Given the description of an element on the screen output the (x, y) to click on. 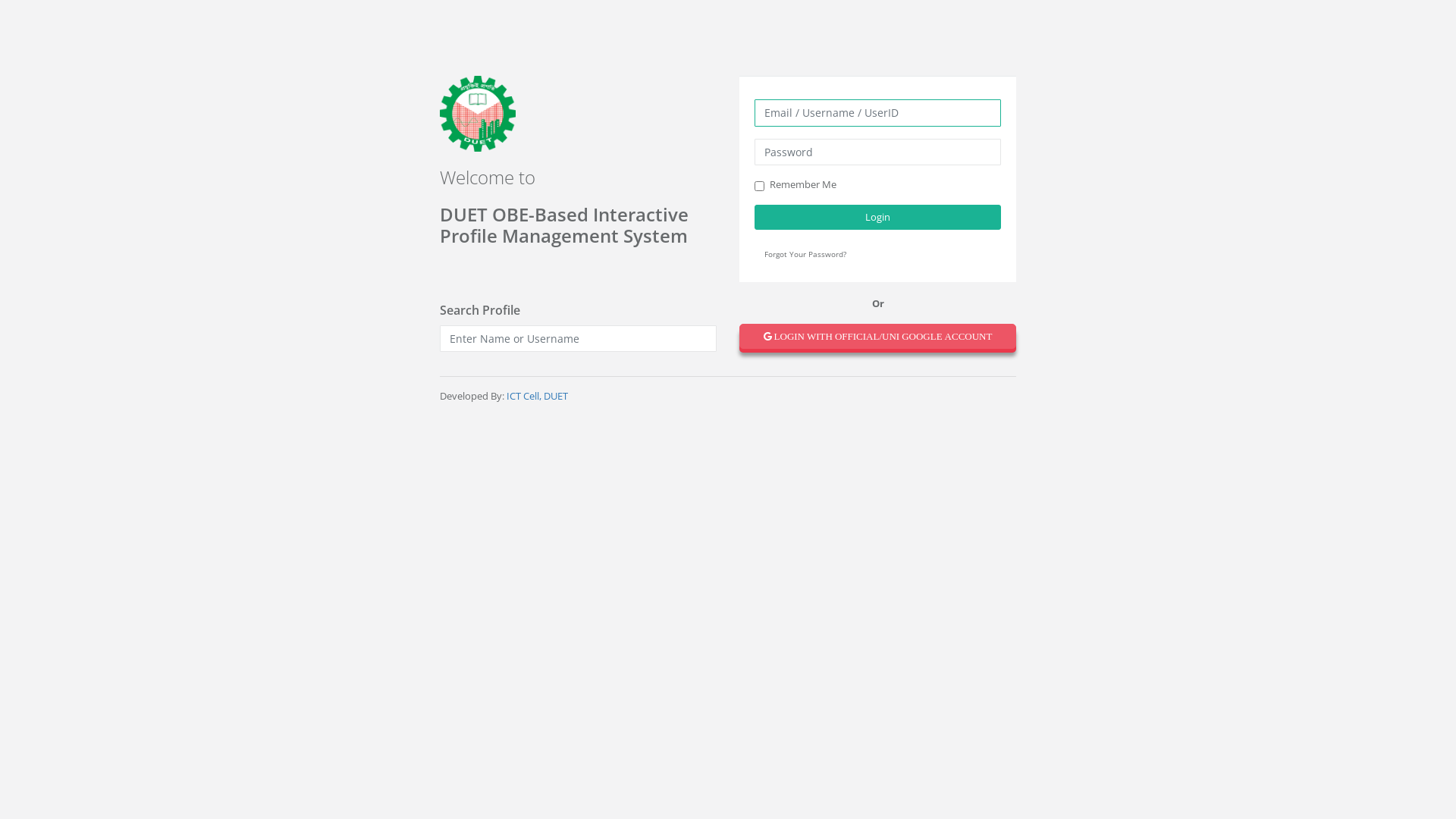
LOGIN WITH OFFICIAL/UNI GOOGLE ACCOUNT Element type: text (881, 342)
Forgot Your Password? Element type: text (805, 253)
LOGIN WITH OFFICIAL/UNI GOOGLE ACCOUNT Element type: text (877, 336)
ICT Cell, DUET Element type: text (536, 395)
Login Element type: text (877, 217)
